Given the description of an element on the screen output the (x, y) to click on. 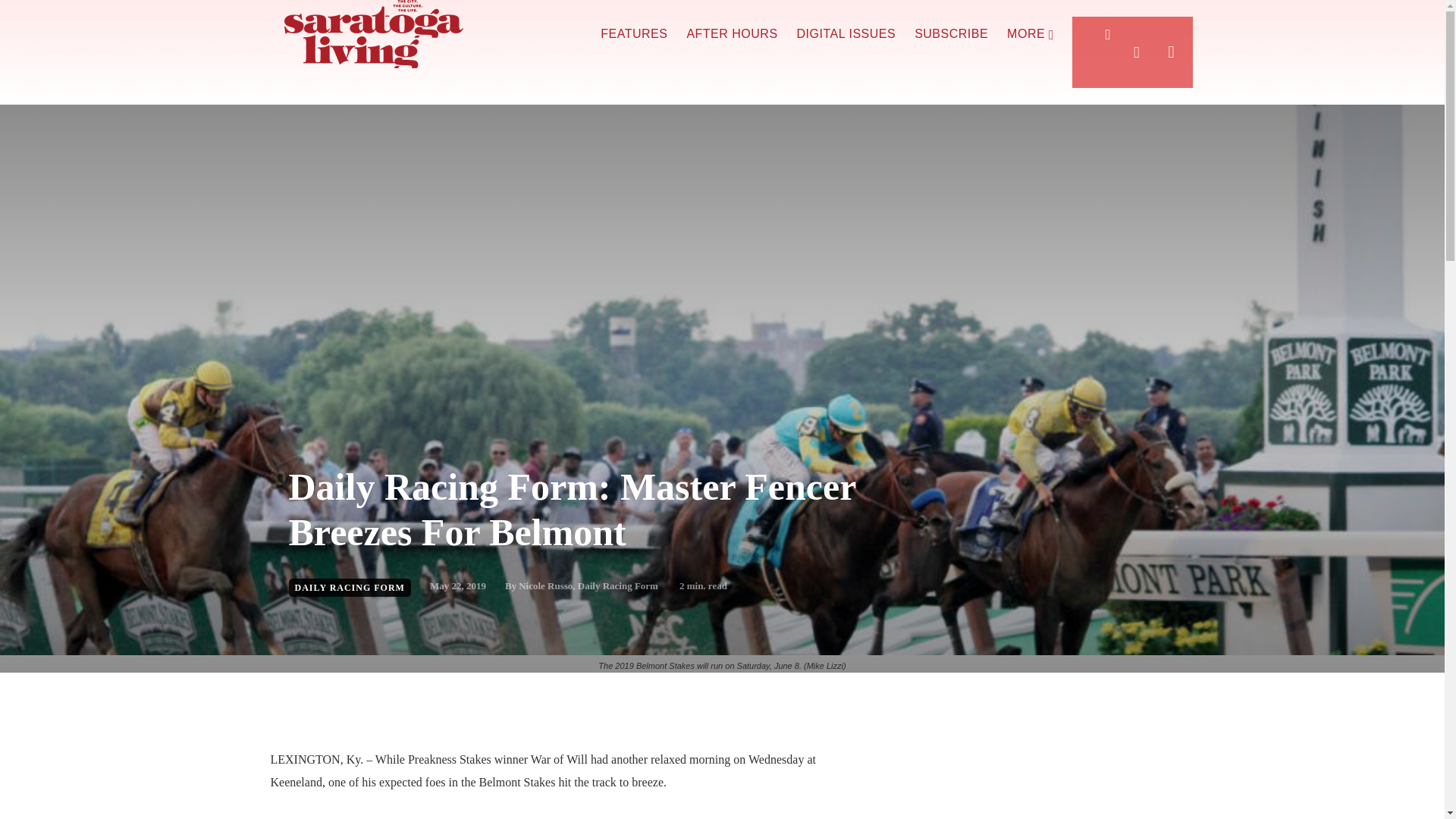
AFTER HOURS (731, 33)
SUBSCRIBE (951, 33)
Nicole Russo, Daily Racing Form (588, 585)
DIGITAL ISSUES (846, 33)
DAILY RACING FORM (349, 587)
FEATURES (632, 33)
